Given the description of an element on the screen output the (x, y) to click on. 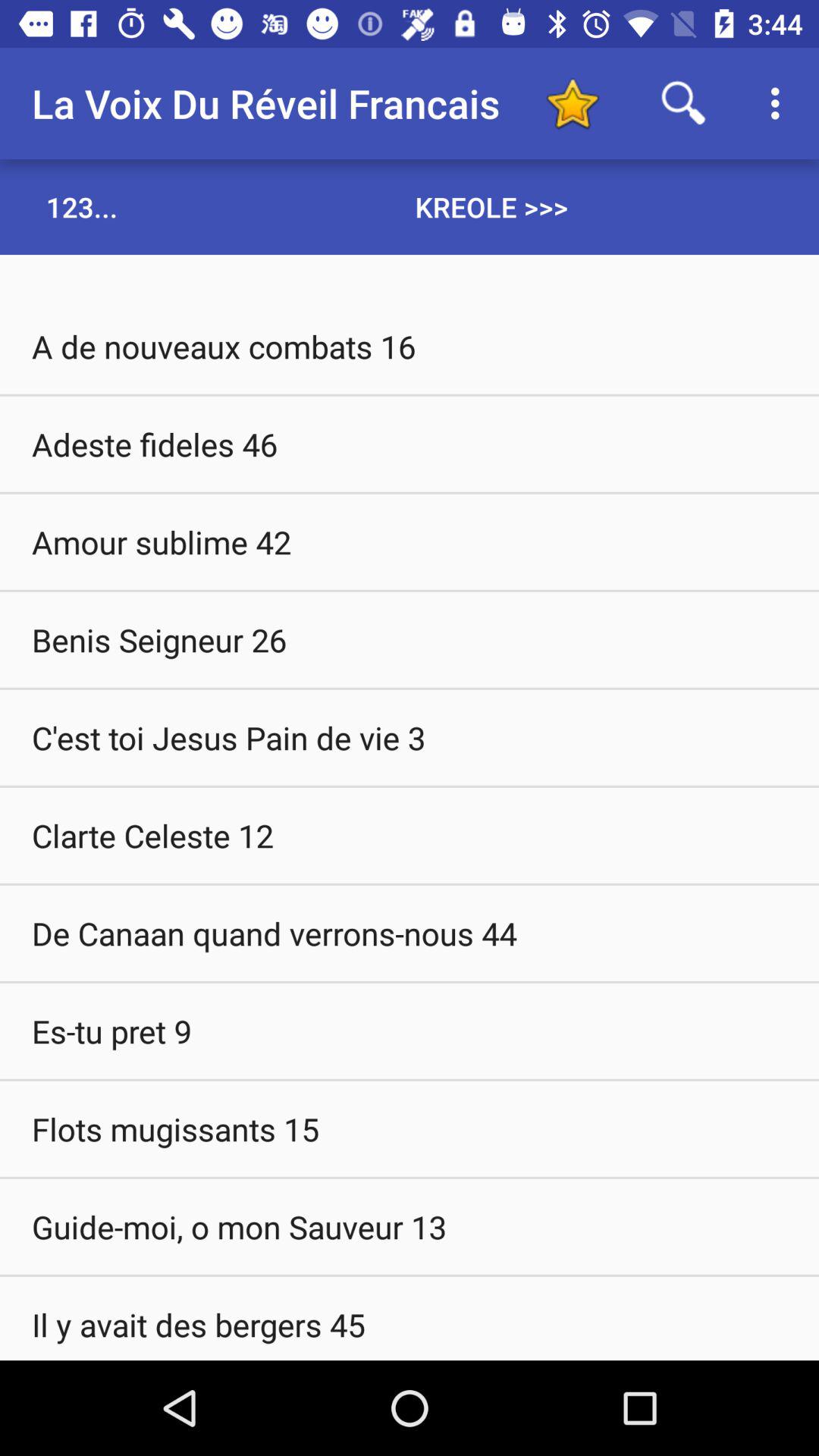
launch de canaan quand icon (409, 933)
